Given the description of an element on the screen output the (x, y) to click on. 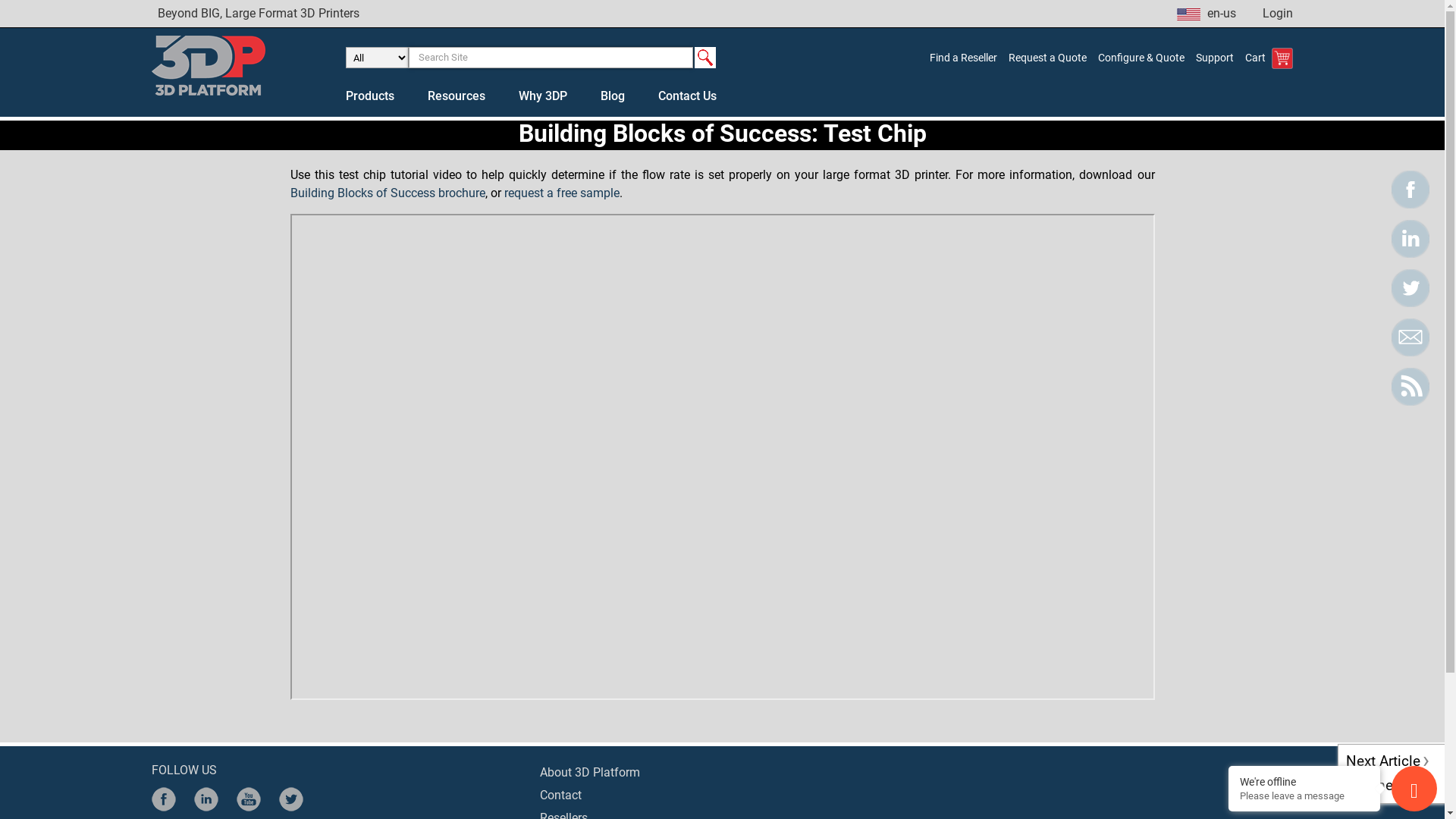
Resources Element type: text (456, 96)
Next Article Element type: text (1391, 764)
About 3D Platform Element type: text (589, 772)
request a free sample Element type: text (560, 192)
Building Blocks of Success brochure Element type: text (386, 192)
Configure & Quote Element type: text (1141, 57)
Products Element type: text (369, 96)
Login Element type: text (1277, 13)
Find a Reseller Element type: text (963, 57)
Support Element type: text (1214, 57)
Home Element type: text (1369, 785)
Why 3DP Element type: text (542, 96)
Request a Quote Element type: text (1047, 57)
Successfully 3D Print a Test Chip Element type: hover (721, 456)
Contact Element type: text (560, 794)
en-us Element type: text (1206, 13)
Blog Element type: text (612, 96)
Contact Us Element type: text (687, 96)
Cart Element type: text (1268, 57)
